Given the description of an element on the screen output the (x, y) to click on. 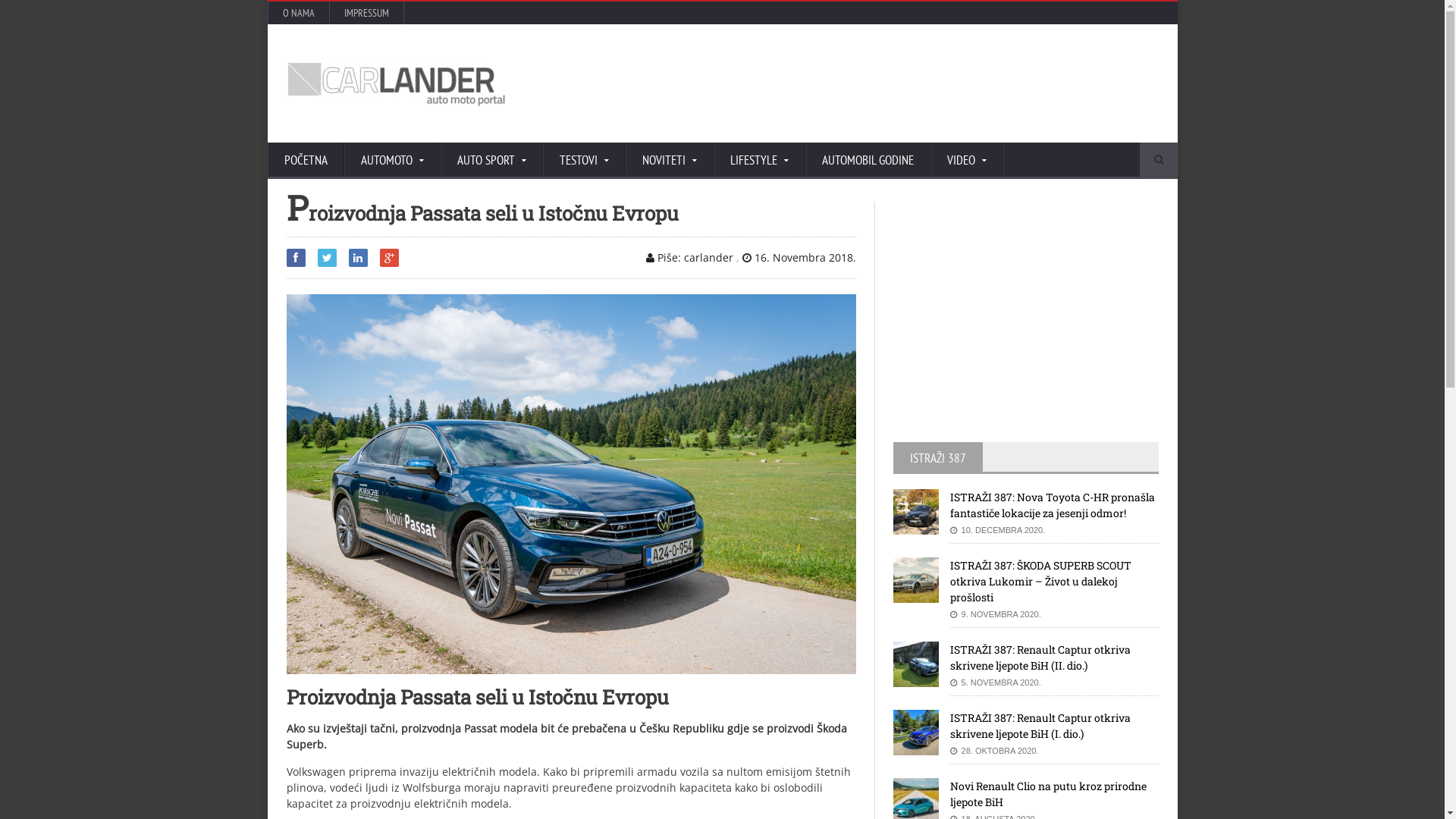
VIDEO Element type: text (965, 160)
O NAMA Element type: text (298, 12)
AUTOMOTO Element type: text (392, 160)
Novi Renault Clio na putu kroz prirodne ljepote BiH Element type: text (1047, 793)
AUTOMOBIL GODINE Element type: text (867, 160)
Advertisement Element type: hover (885, 83)
AUTO SPORT Element type: text (490, 160)
Advertisement Element type: hover (1006, 328)
16. Novembra 2018. Element type: text (798, 257)
NOVITETI Element type: text (668, 160)
TESTOVI Element type: text (583, 160)
LIFESTYLE Element type: text (758, 160)
IMPRESSUM Element type: text (365, 12)
